Given the description of an element on the screen output the (x, y) to click on. 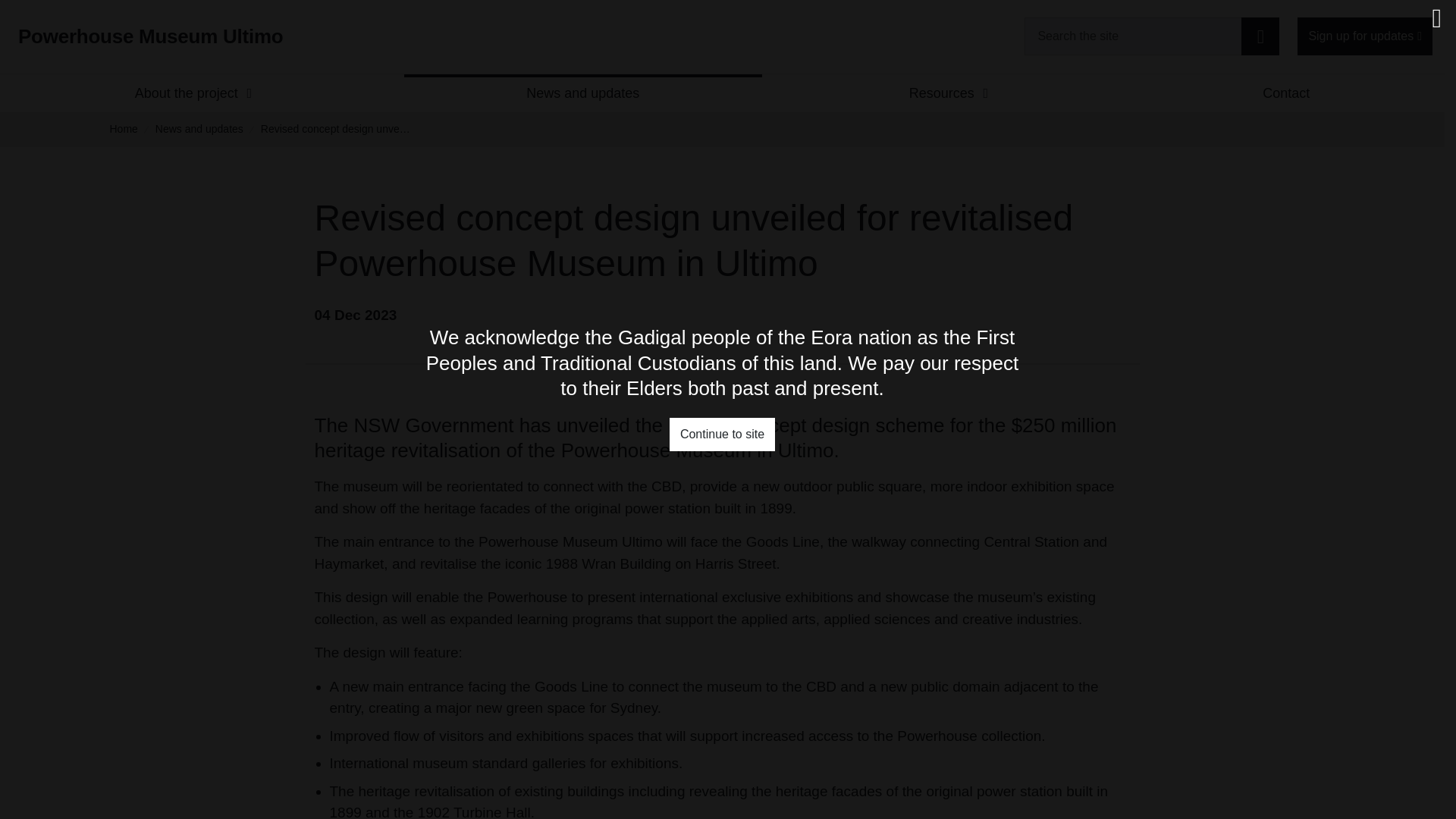
Powerhouse Museum Ultimo (149, 36)
Sign up for updates (1364, 36)
Home (122, 129)
Resources (941, 93)
Powerhouse Museum Ultimo (149, 36)
Contact (1286, 93)
News and updates (582, 93)
About the project (186, 93)
News and updates (199, 129)
